Given the description of an element on the screen output the (x, y) to click on. 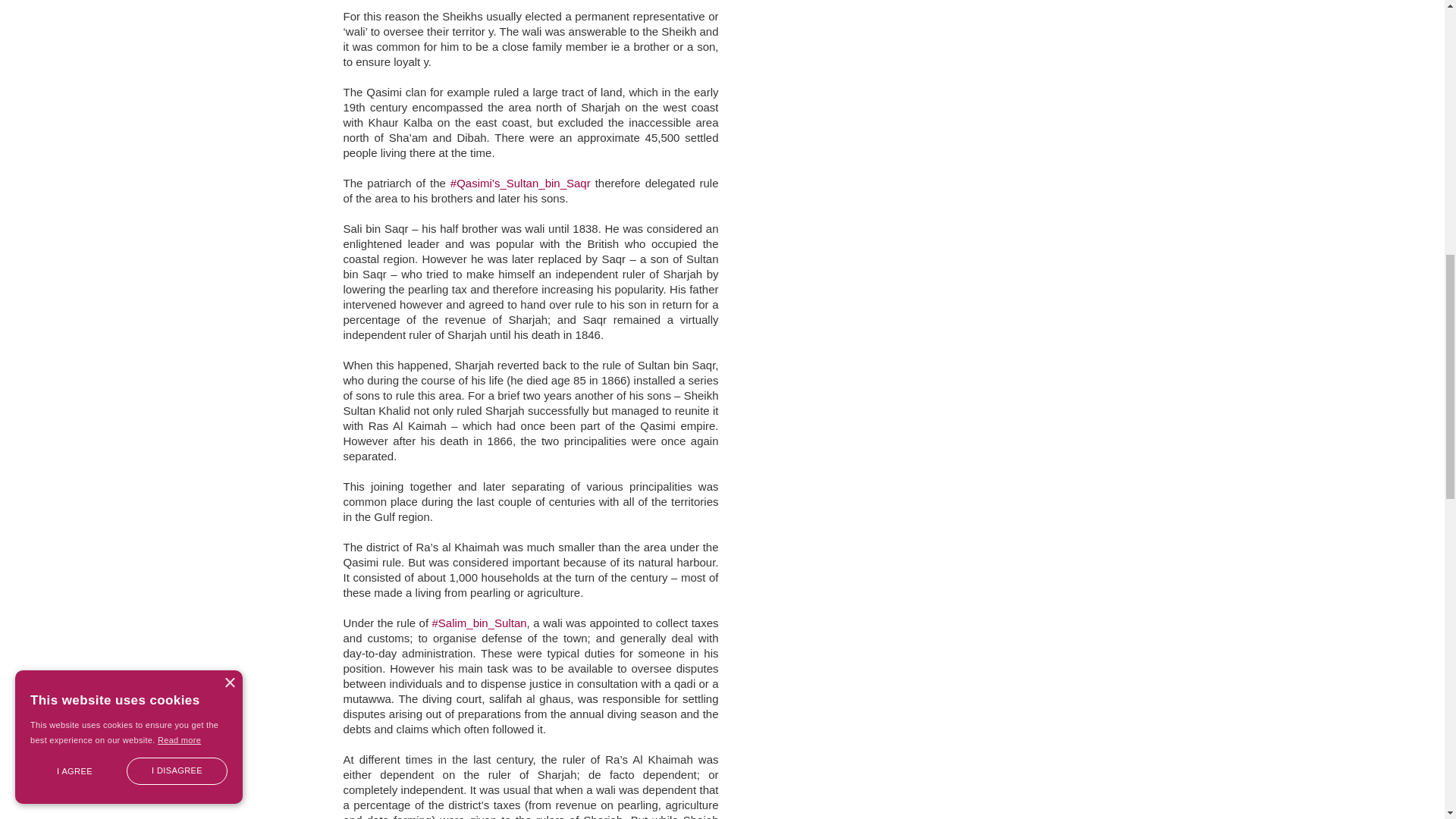
Seach website for:  Salim bin Sultan (479, 622)
